Given the description of an element on the screen output the (x, y) to click on. 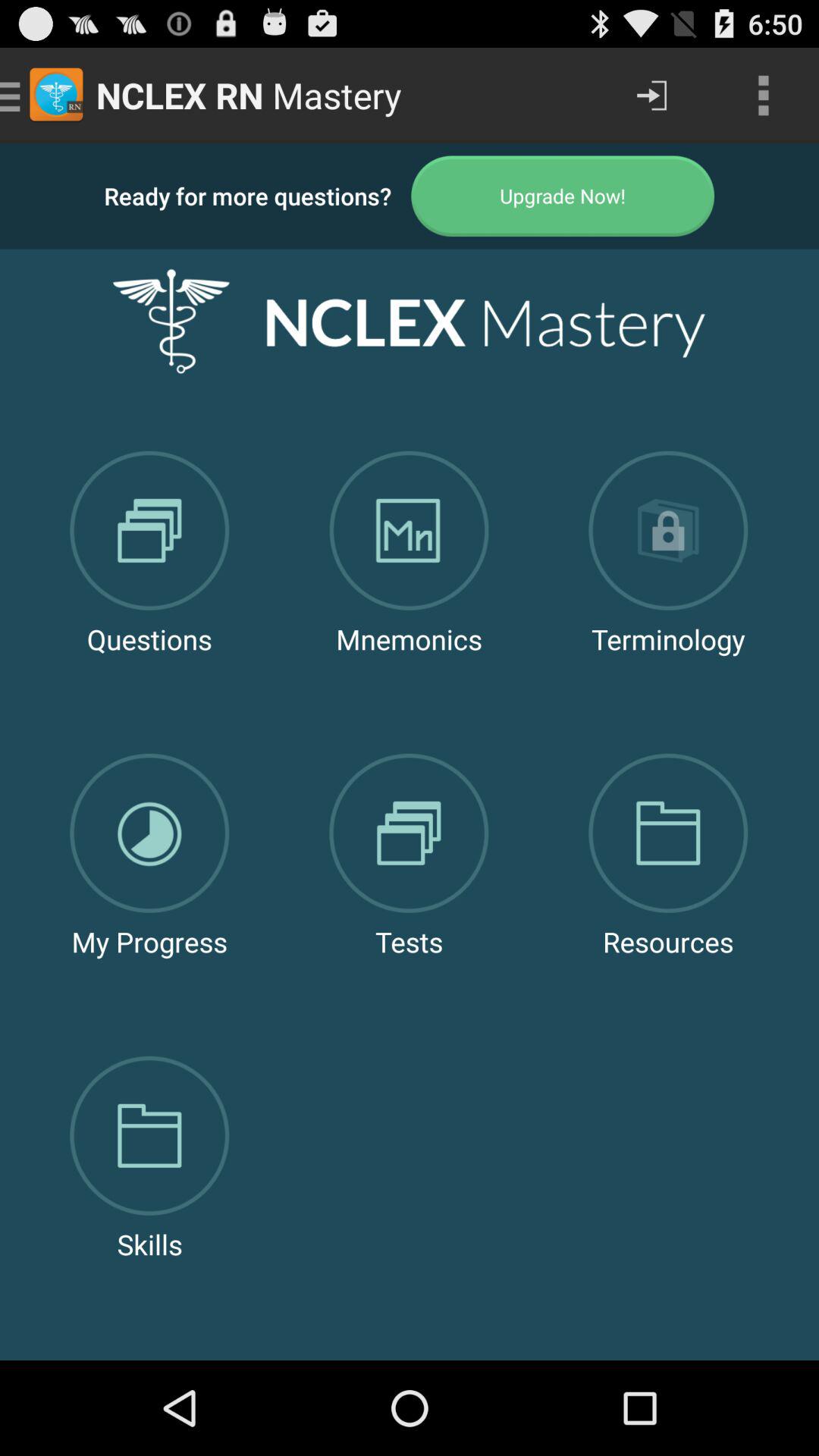
press the icon next to the ready for more icon (562, 195)
